Given the description of an element on the screen output the (x, y) to click on. 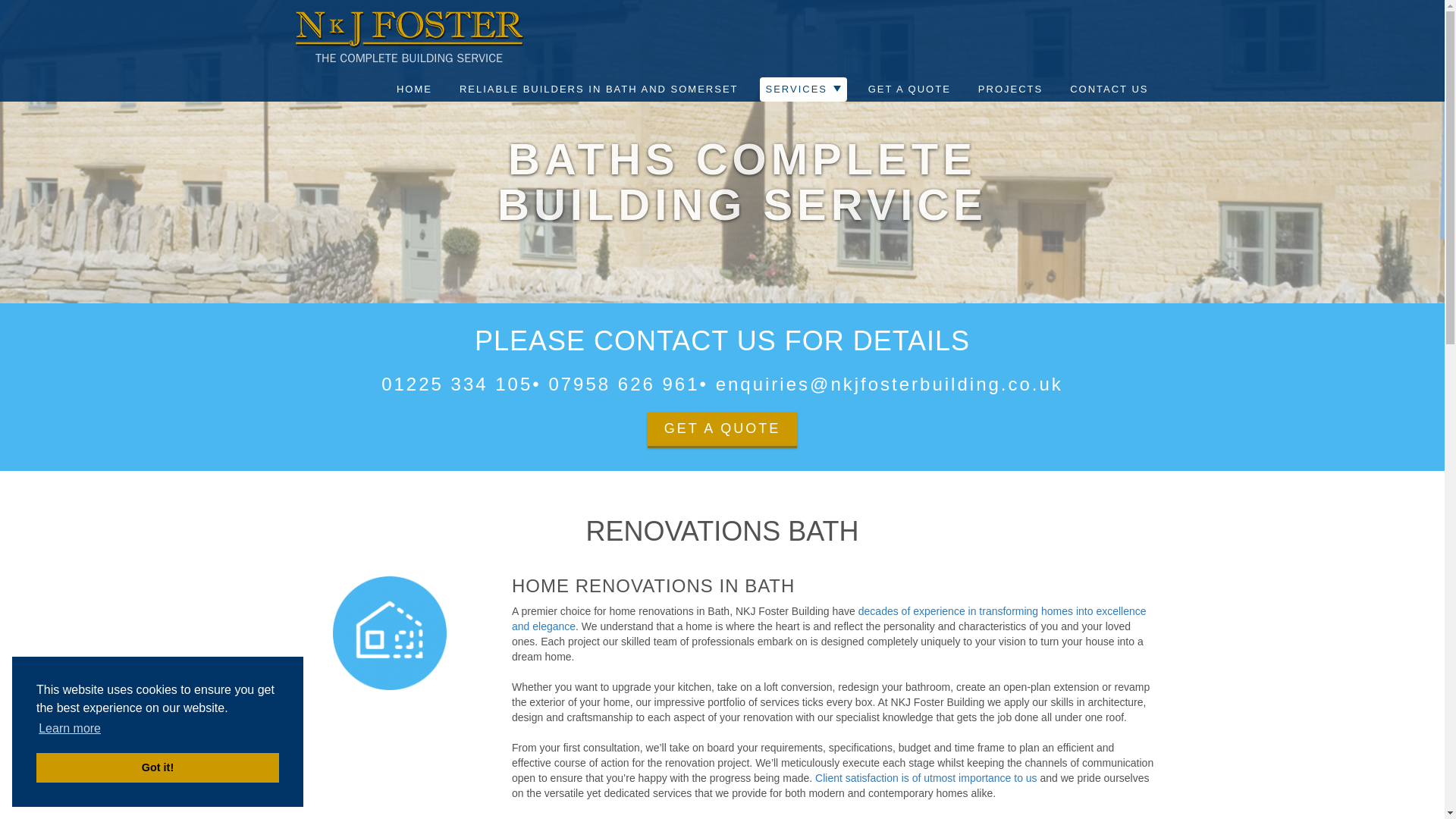
01225 334 105 (456, 383)
PROJECTS (1010, 88)
Reliable Builders in Bath and Somerset (598, 88)
THE COMPLETE BUILDING SERVICE (408, 38)
Services (803, 88)
Home (414, 88)
Learn more (69, 728)
GET A QUOTE (722, 429)
CONTACT US (1109, 88)
